Given the description of an element on the screen output the (x, y) to click on. 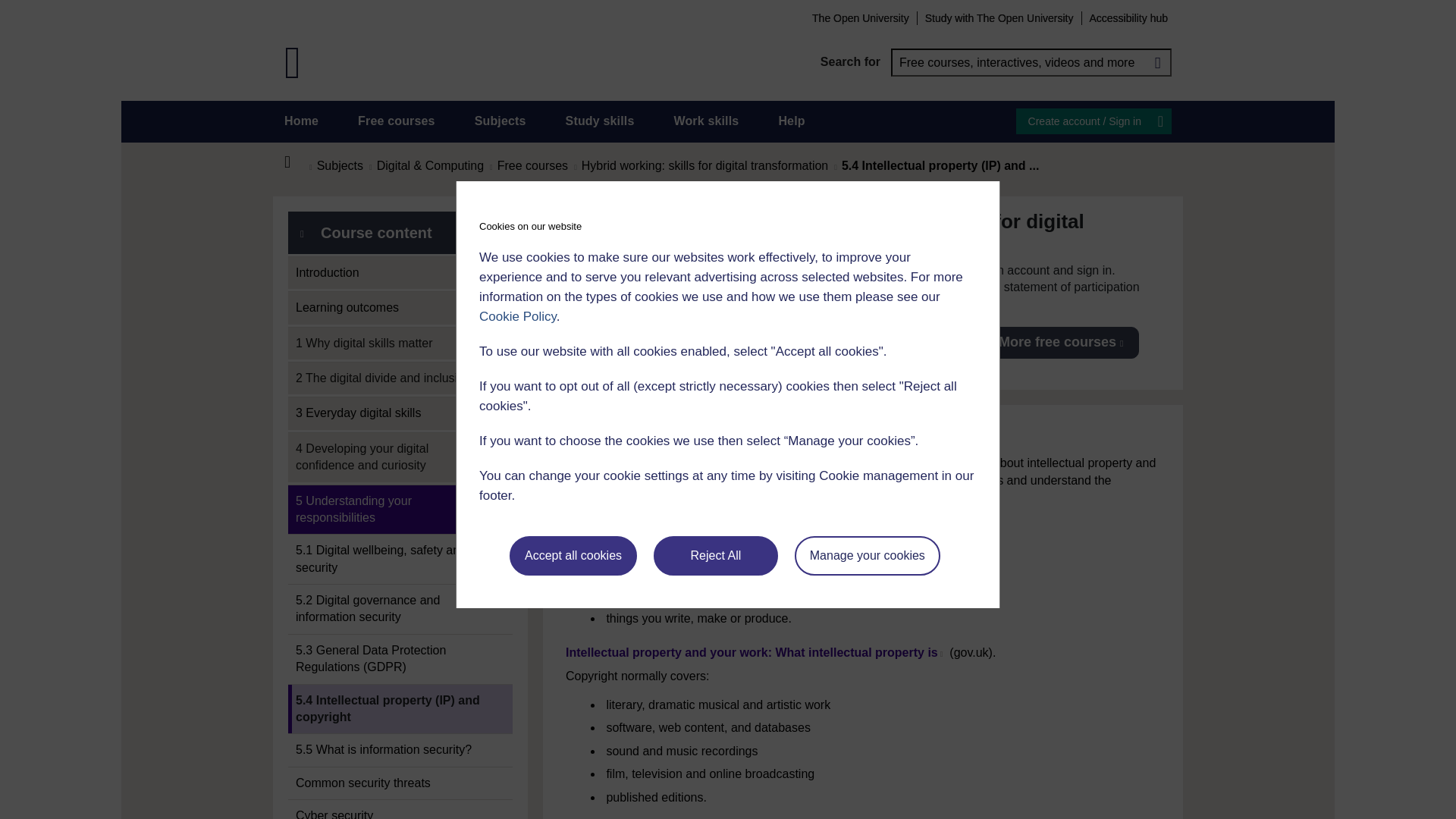
Manage your cookies (867, 555)
Cookie Policy (517, 316)
Reject All (715, 555)
Subjects (499, 120)
Work skills (705, 120)
Accept all cookies (573, 555)
Search (1157, 62)
Study skills (600, 120)
Free courses (396, 120)
Help (791, 120)
Accessibility hub (1129, 17)
Study with The Open University (999, 17)
Home (300, 120)
The Open University (860, 17)
Home (295, 162)
